Given the description of an element on the screen output the (x, y) to click on. 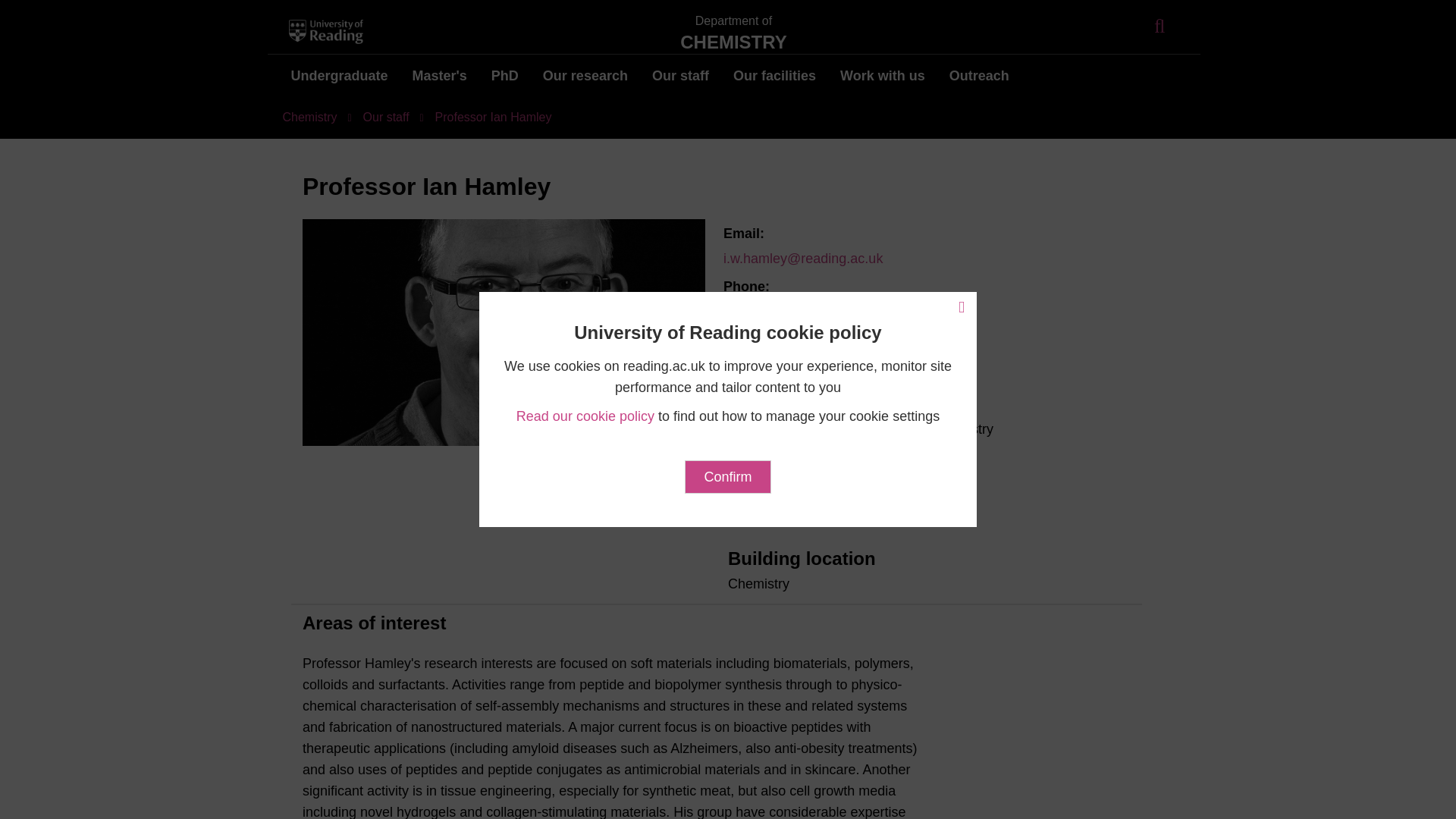
Read our cookie policy (584, 416)
Confirm (727, 476)
CHEMISTRY (732, 41)
Chemistry (732, 41)
University of Reading Home (328, 31)
